Given the description of an element on the screen output the (x, y) to click on. 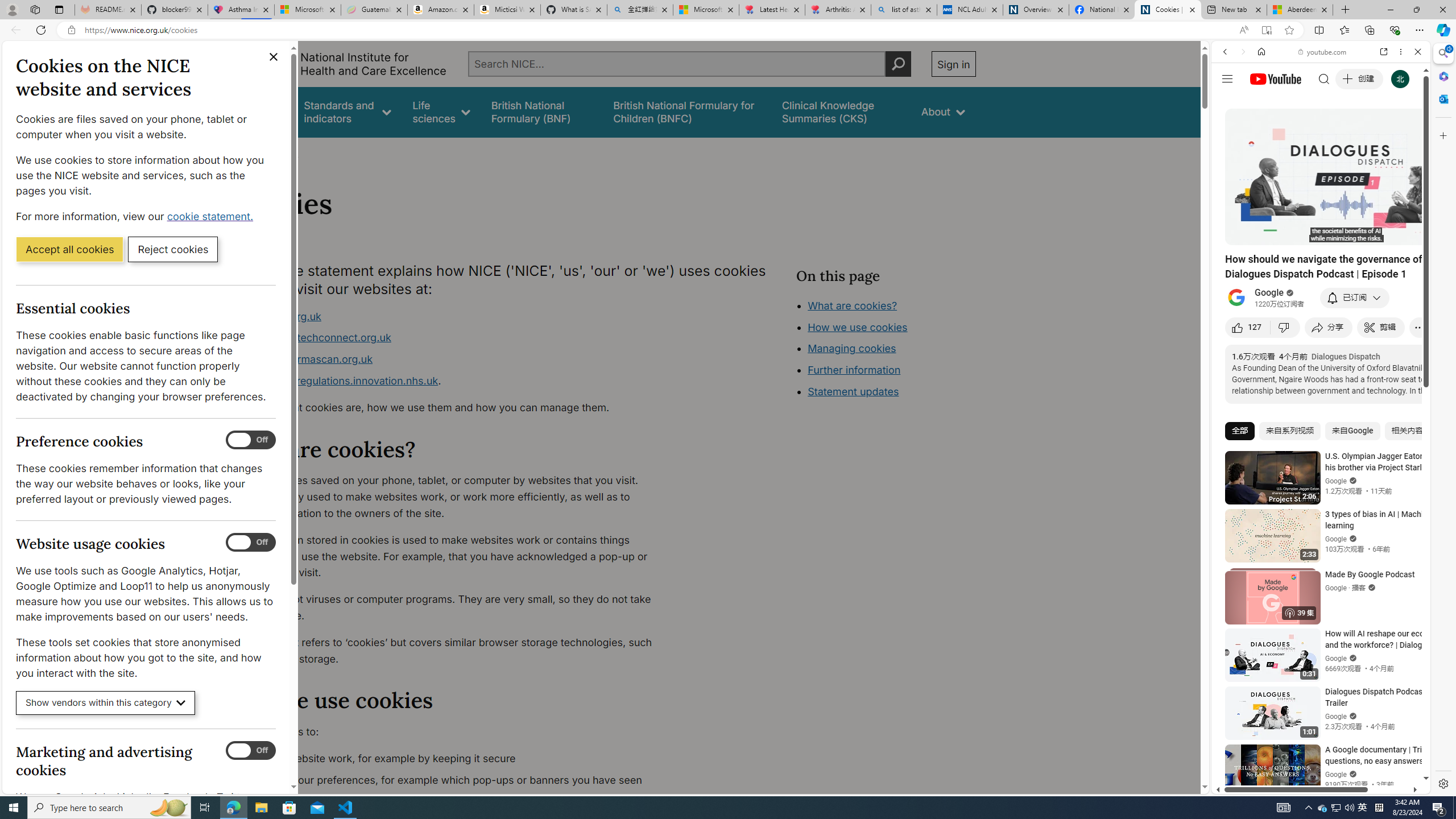
you (1315, 755)
make our website work, for example by keeping it secure (452, 759)
Show More Music (1390, 310)
